Given the description of an element on the screen output the (x, y) to click on. 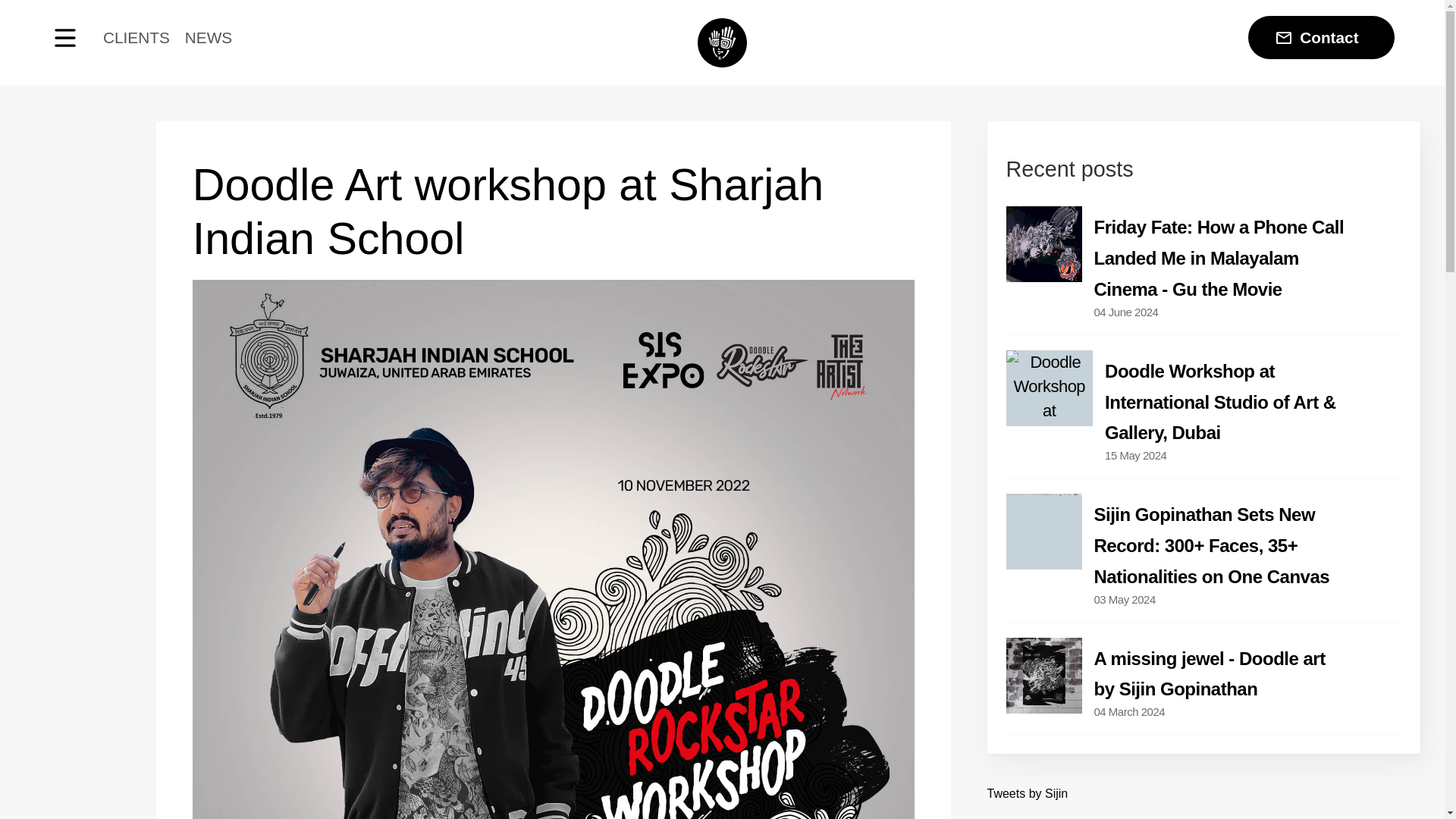
CLIENTS (128, 37)
Contact (1320, 36)
NEWS (200, 37)
Tweets by Sijin (1027, 793)
